Given the description of an element on the screen output the (x, y) to click on. 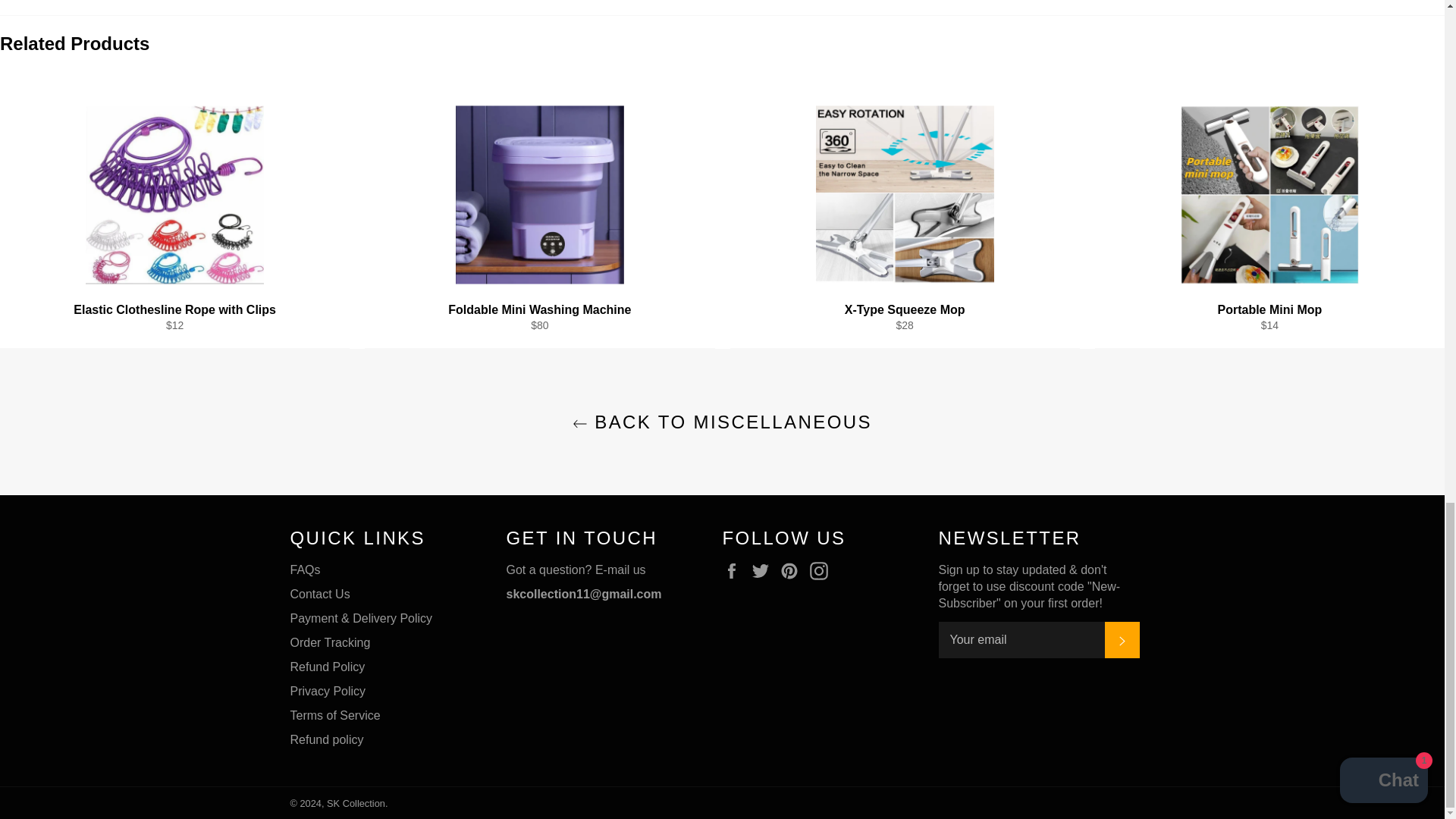
SK Collection on Twitter (764, 570)
SK Collection on Instagram (822, 570)
SK Collection on Facebook (735, 570)
SK Collection on Pinterest (793, 570)
